Given the description of an element on the screen output the (x, y) to click on. 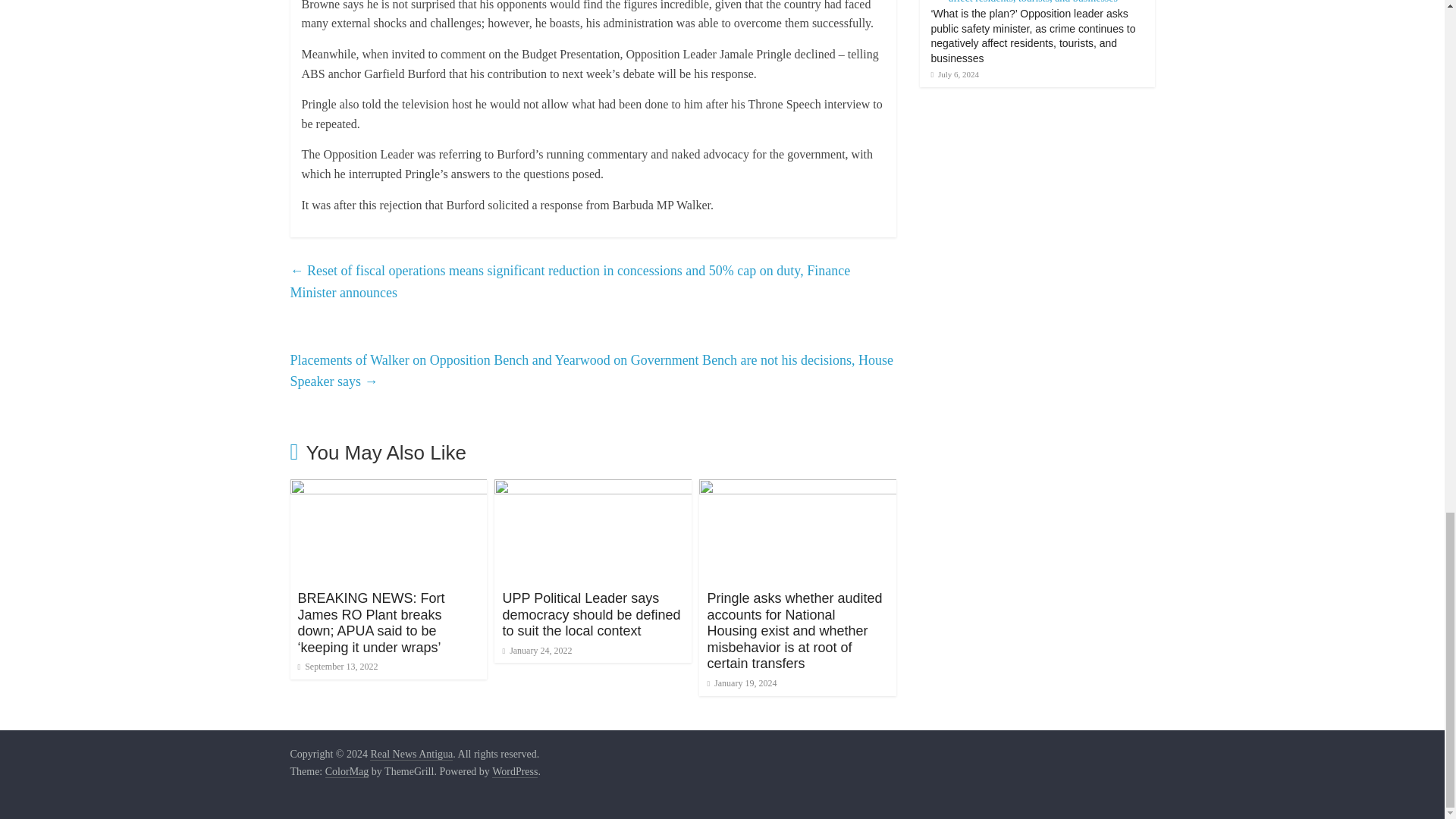
8:42 pm (337, 665)
